Given the description of an element on the screen output the (x, y) to click on. 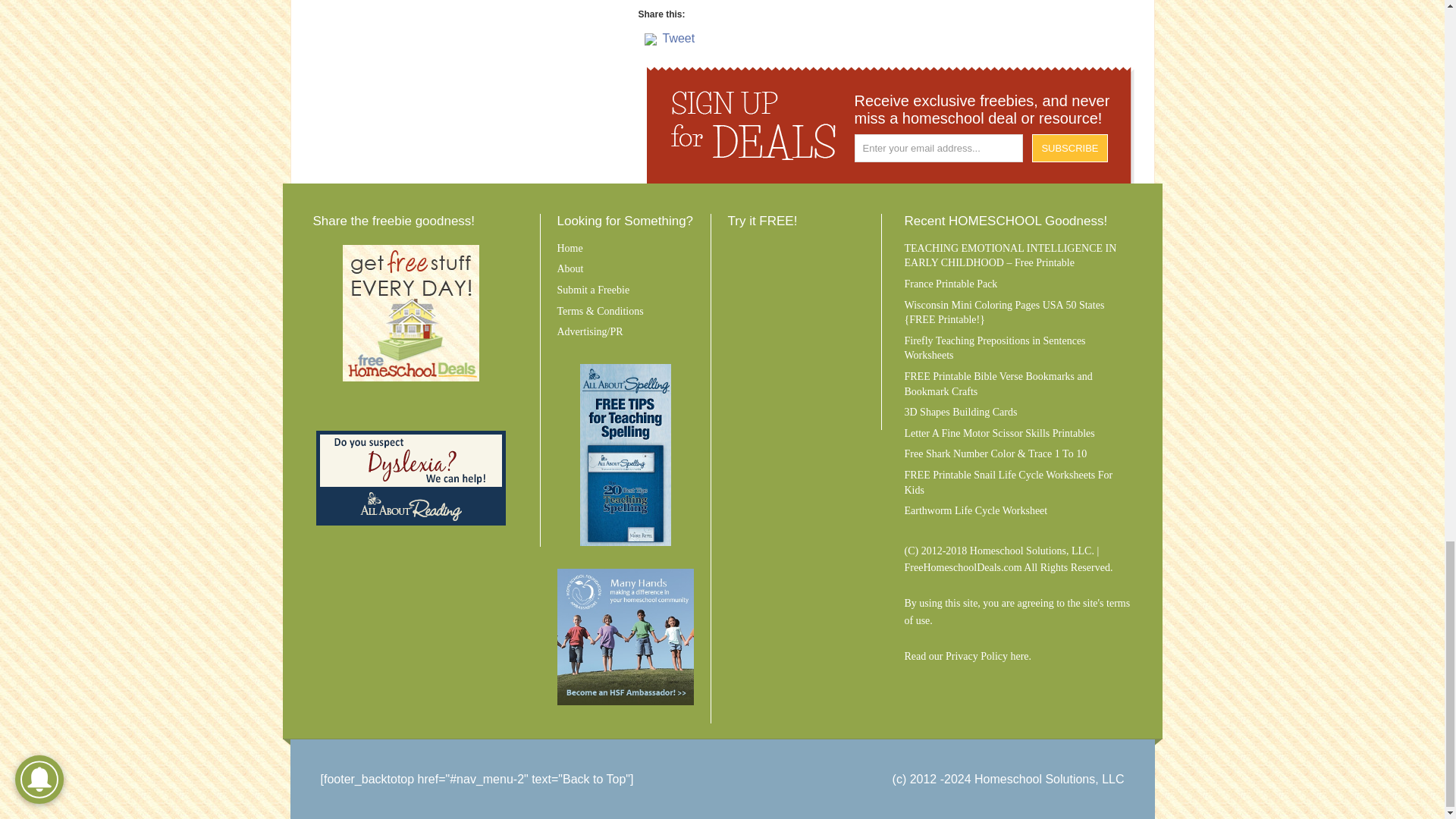
Subscribe (1070, 148)
Free Homeschool Deals (410, 312)
